Given the description of an element on the screen output the (x, y) to click on. 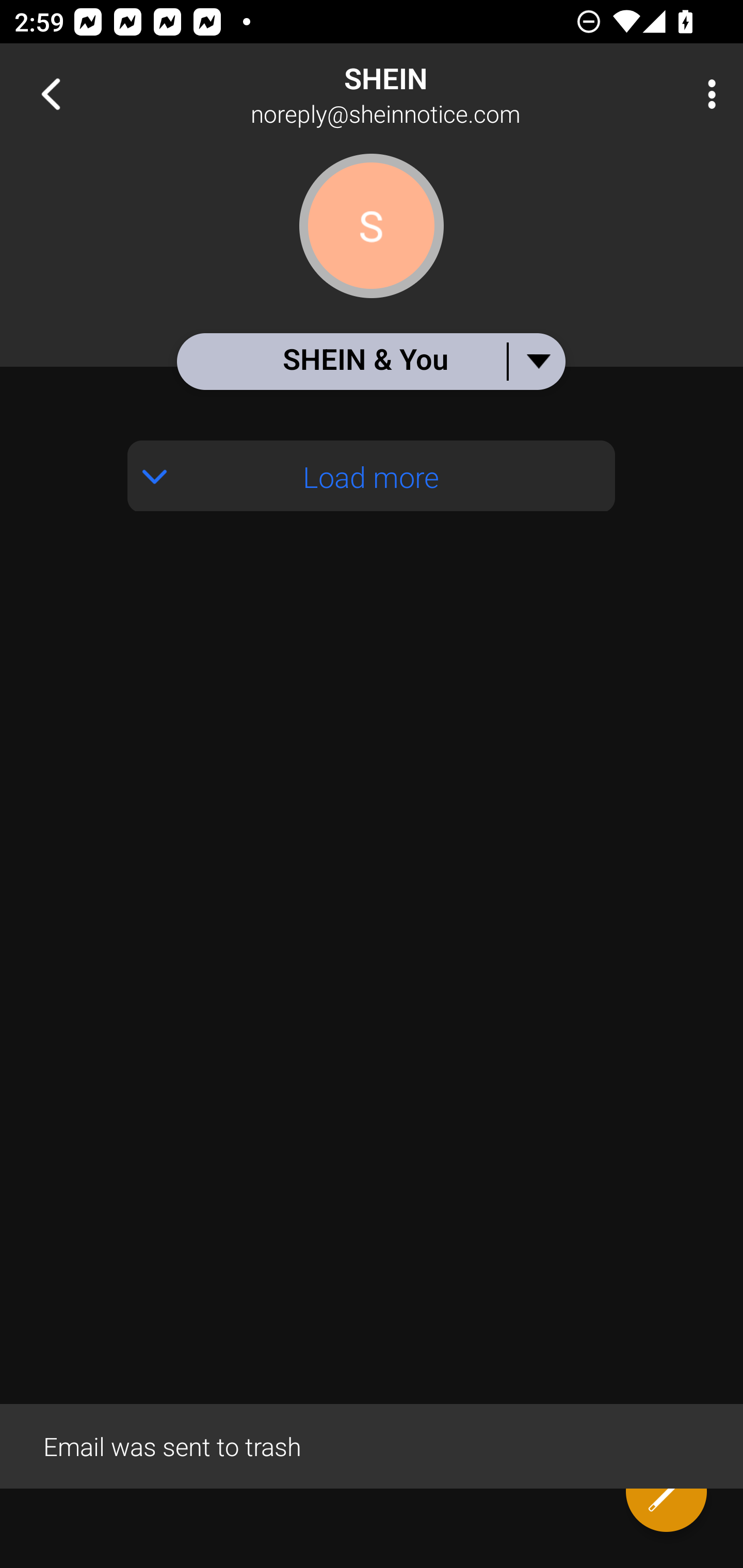
Navigate up (50, 93)
SHEIN noreply@sheinnotice.com (436, 93)
More Options (706, 93)
SHEIN & You (370, 361)
Load more (371, 475)
Email was sent to trash (371, 1445)
